Given the description of an element on the screen output the (x, y) to click on. 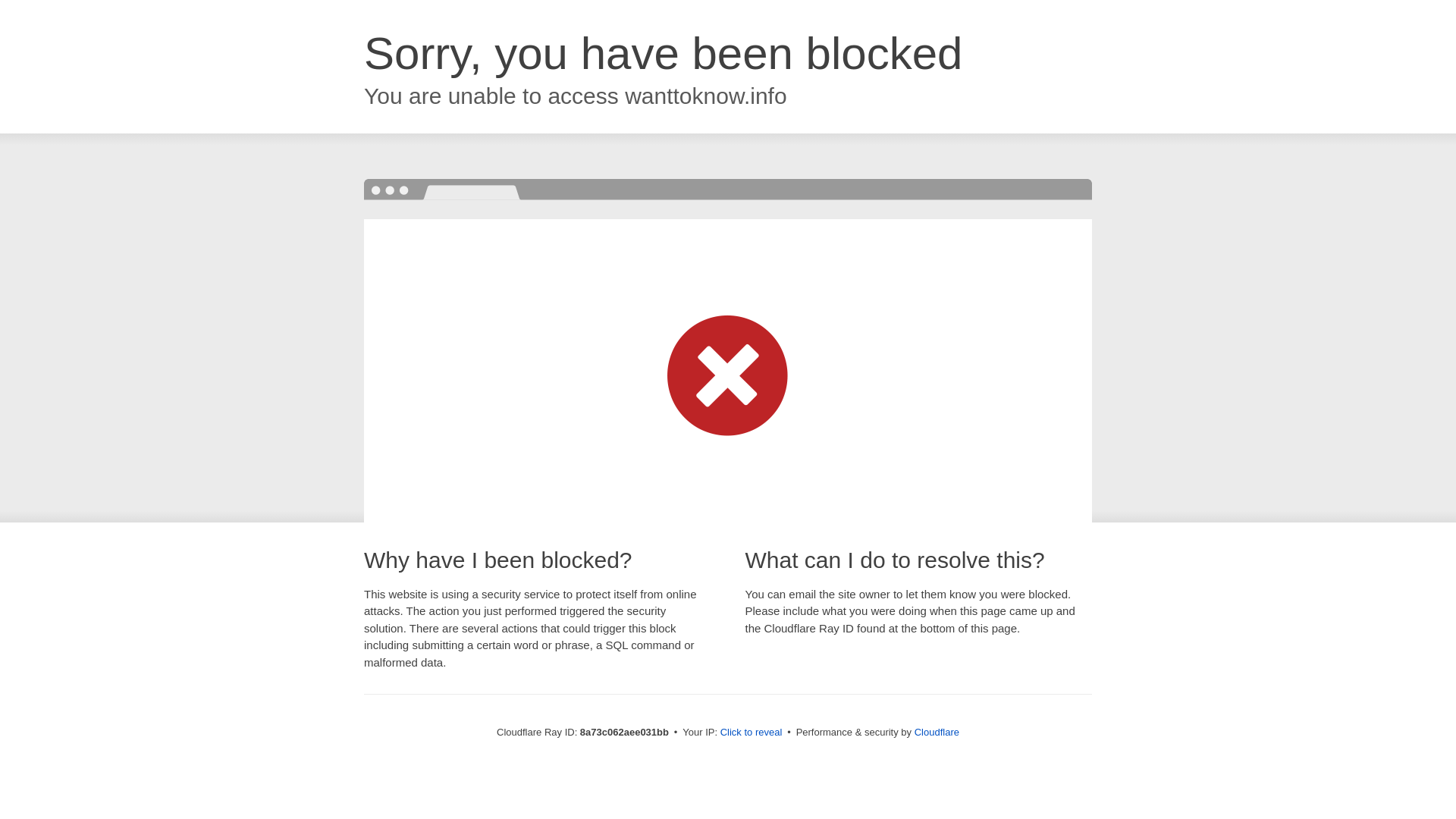
Cloudflare (936, 731)
Click to reveal (751, 732)
